Given the description of an element on the screen output the (x, y) to click on. 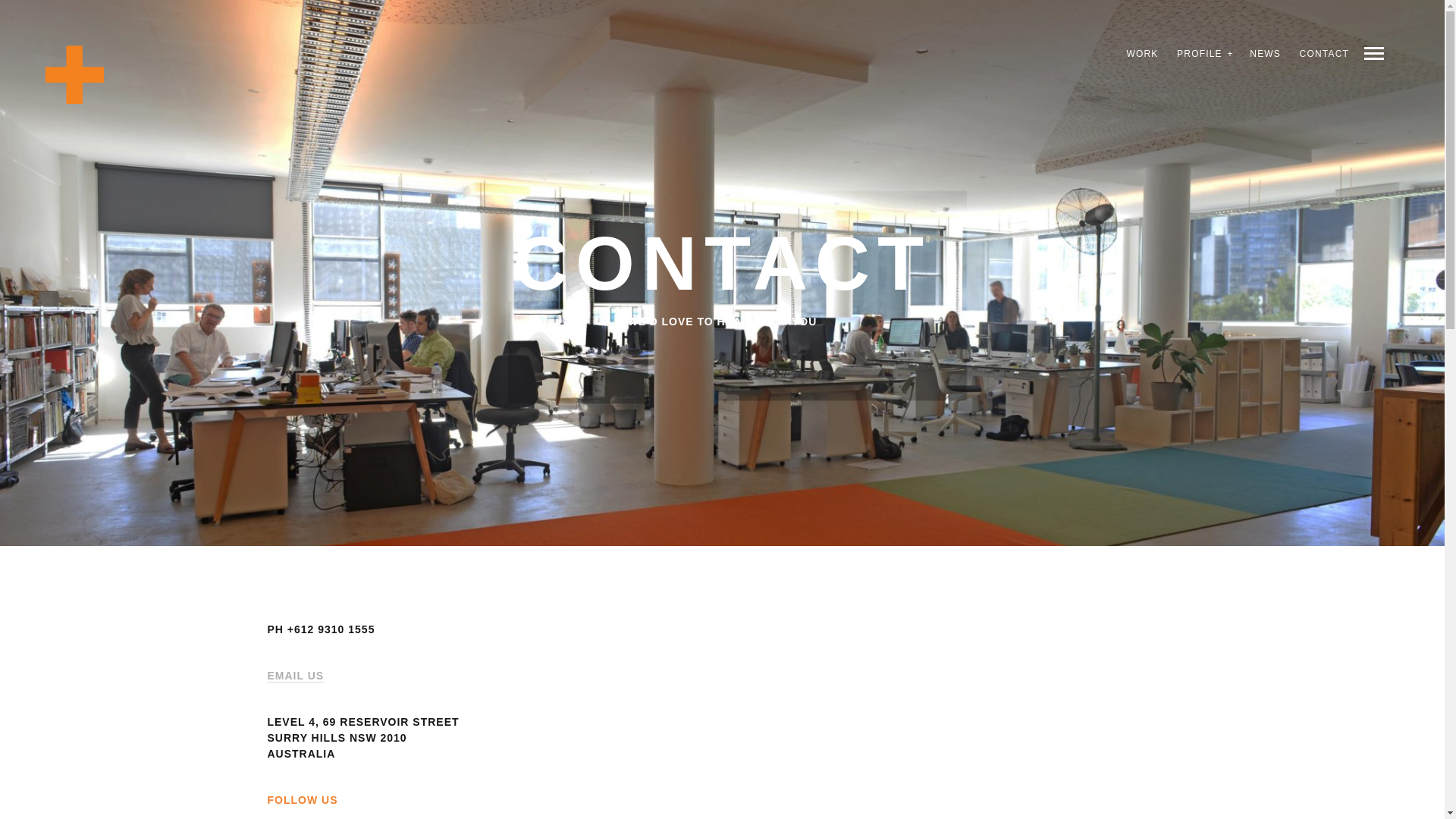
WORK Element type: text (1141, 53)
EMAIL US Element type: text (294, 675)
PROFILE Element type: text (1199, 53)
CONTACT Element type: text (1324, 53)
NEWS Element type: text (1265, 53)
Lacoste + Stevenson | Art, Architecture & Urban Design Element type: hover (74, 74)
